Given the description of an element on the screen output the (x, y) to click on. 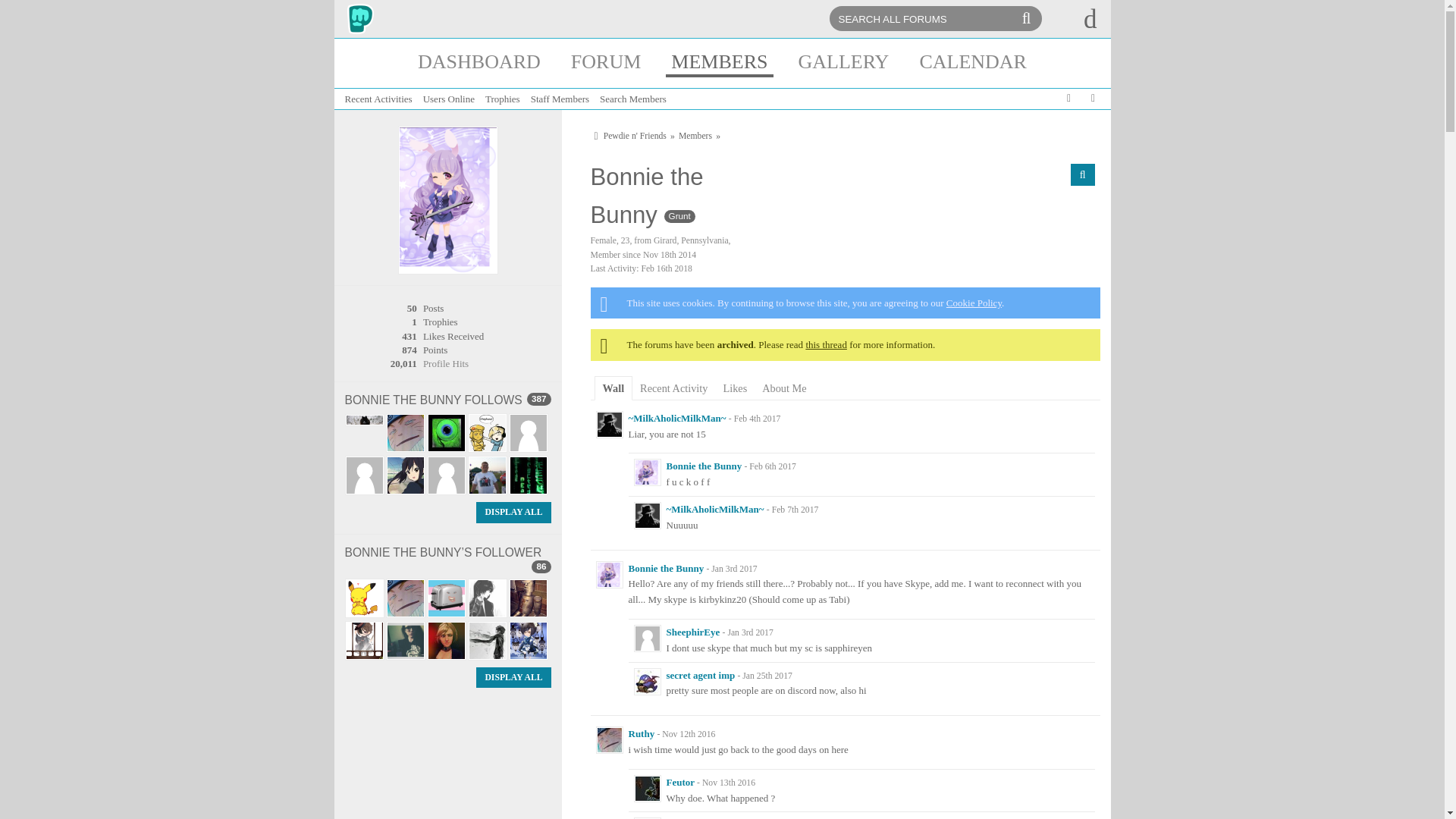
FORUM (606, 62)
Ruthy (609, 739)
Jan 25th 2017, 2:12am (767, 676)
SheephirEye (647, 637)
LOGIN (1083, 18)
MEMBERS (719, 62)
Recent Activities (377, 98)
Bonnie the Bunny (647, 472)
Feb 7th 2017, 4:26am (794, 510)
Feb 4th 2017, 4:59am (756, 419)
Members (697, 137)
DASHBOARD (479, 62)
secret agent imp (647, 681)
Nov 13th 2016, 1:23pm (728, 783)
Points (435, 349)
